Given the description of an element on the screen output the (x, y) to click on. 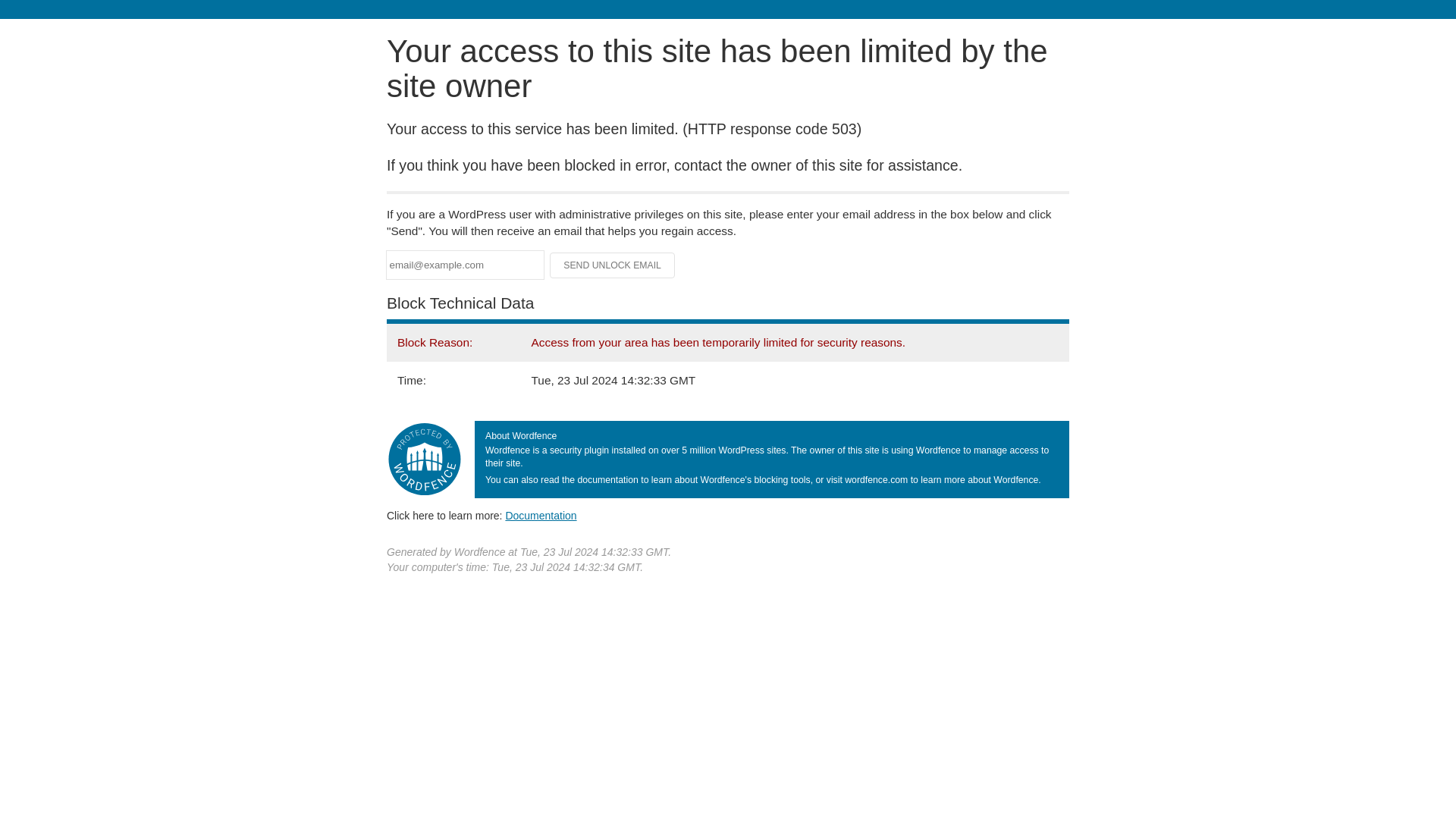
Send Unlock Email (612, 265)
Send Unlock Email (612, 265)
Documentation (540, 515)
